Given the description of an element on the screen output the (x, y) to click on. 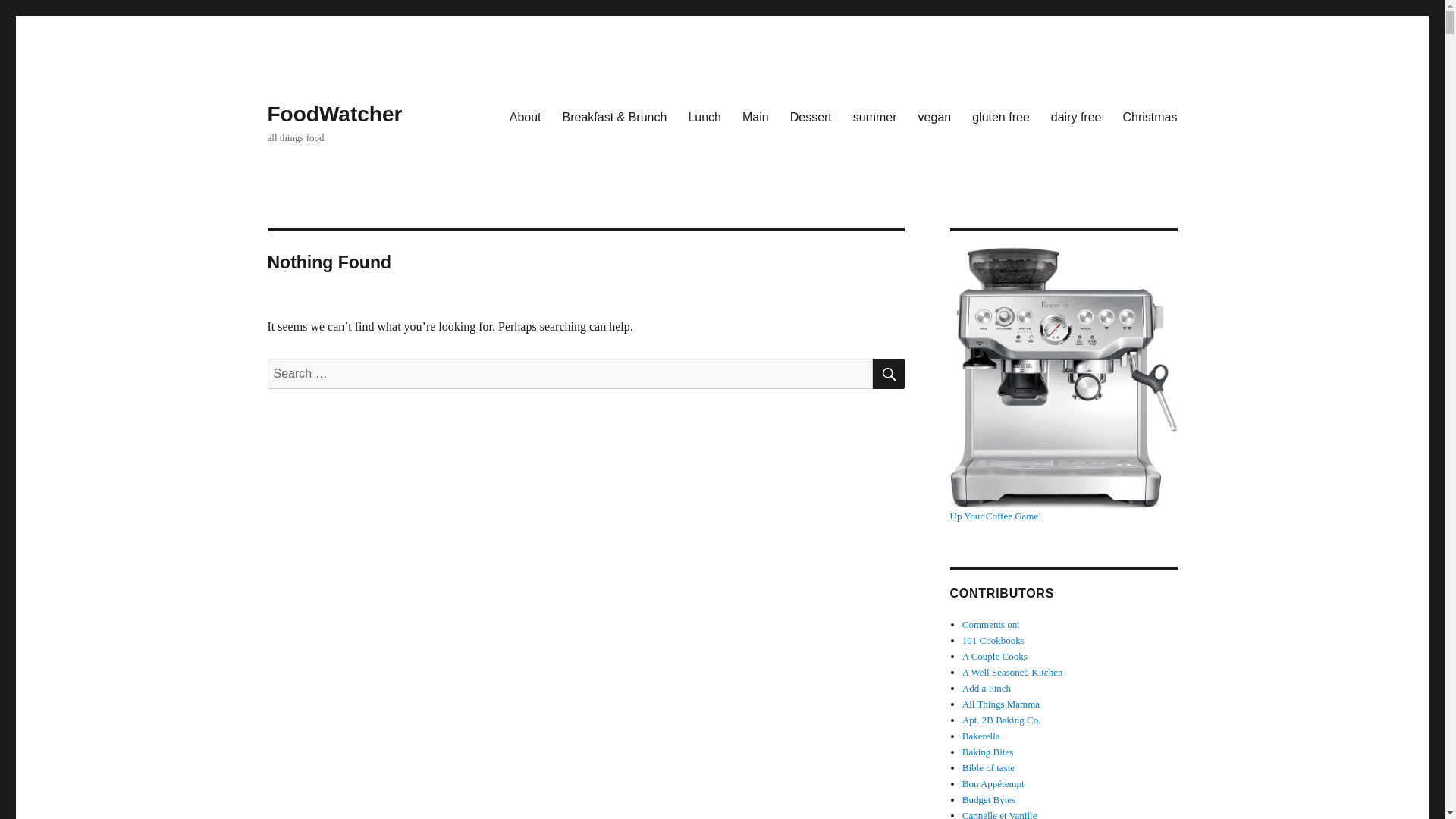
Apt. 2B Baking Co. (1001, 719)
Christmas (1150, 116)
food, life and photography (999, 814)
Delicious Recipes Designed for Small Budgets (988, 799)
vegan (934, 116)
Main (755, 116)
with Alona Bogdanova (988, 767)
Making cooking and entertaining easy, elegant and fun. (1012, 672)
dairy free (1076, 116)
